Given the description of an element on the screen output the (x, y) to click on. 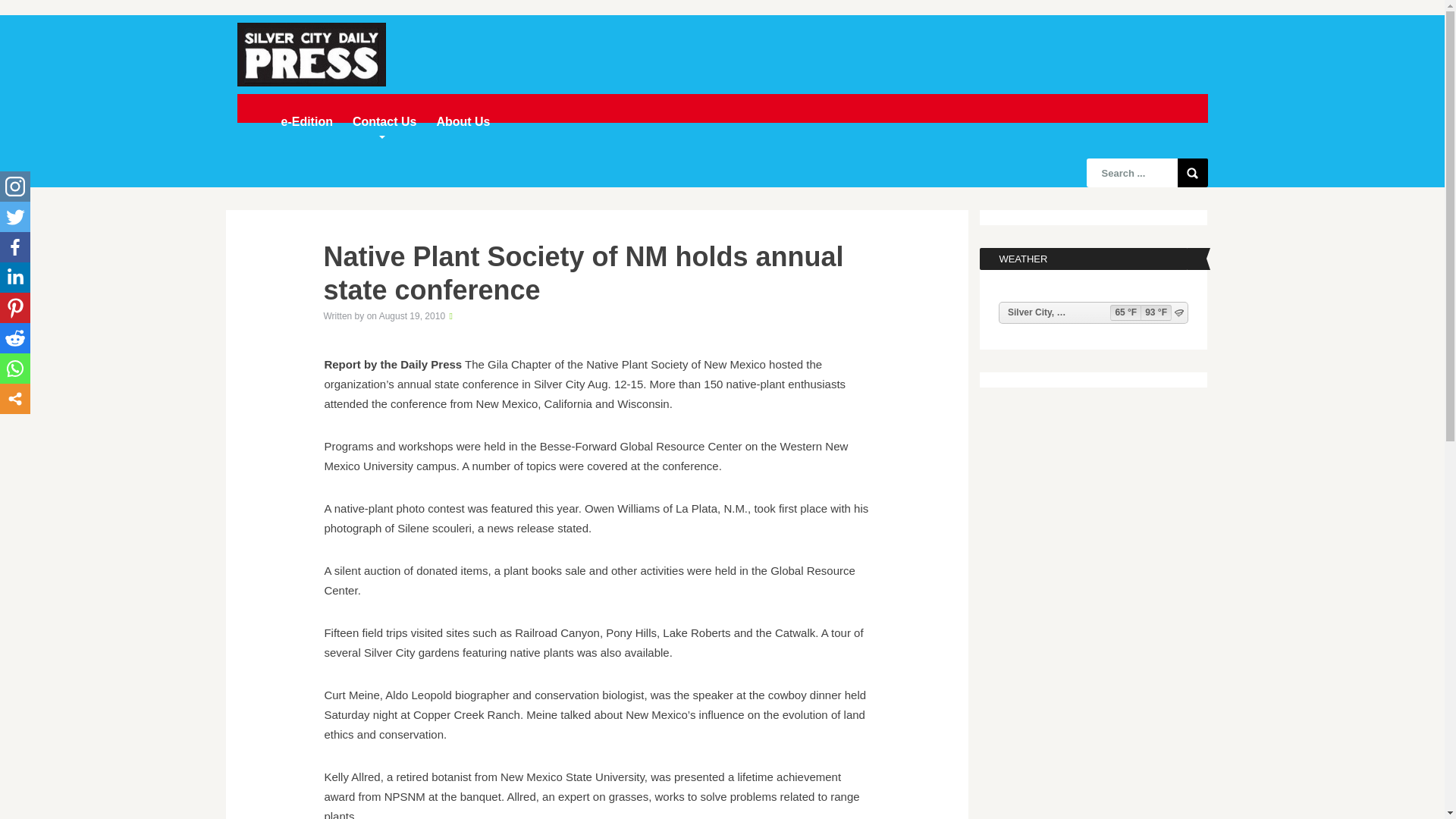
Contact Us (384, 123)
About Us (462, 121)
e-Edition (306, 121)
Contact Us (384, 123)
Search (1191, 172)
Search (1191, 172)
e-Edition (306, 121)
